Given the description of an element on the screen output the (x, y) to click on. 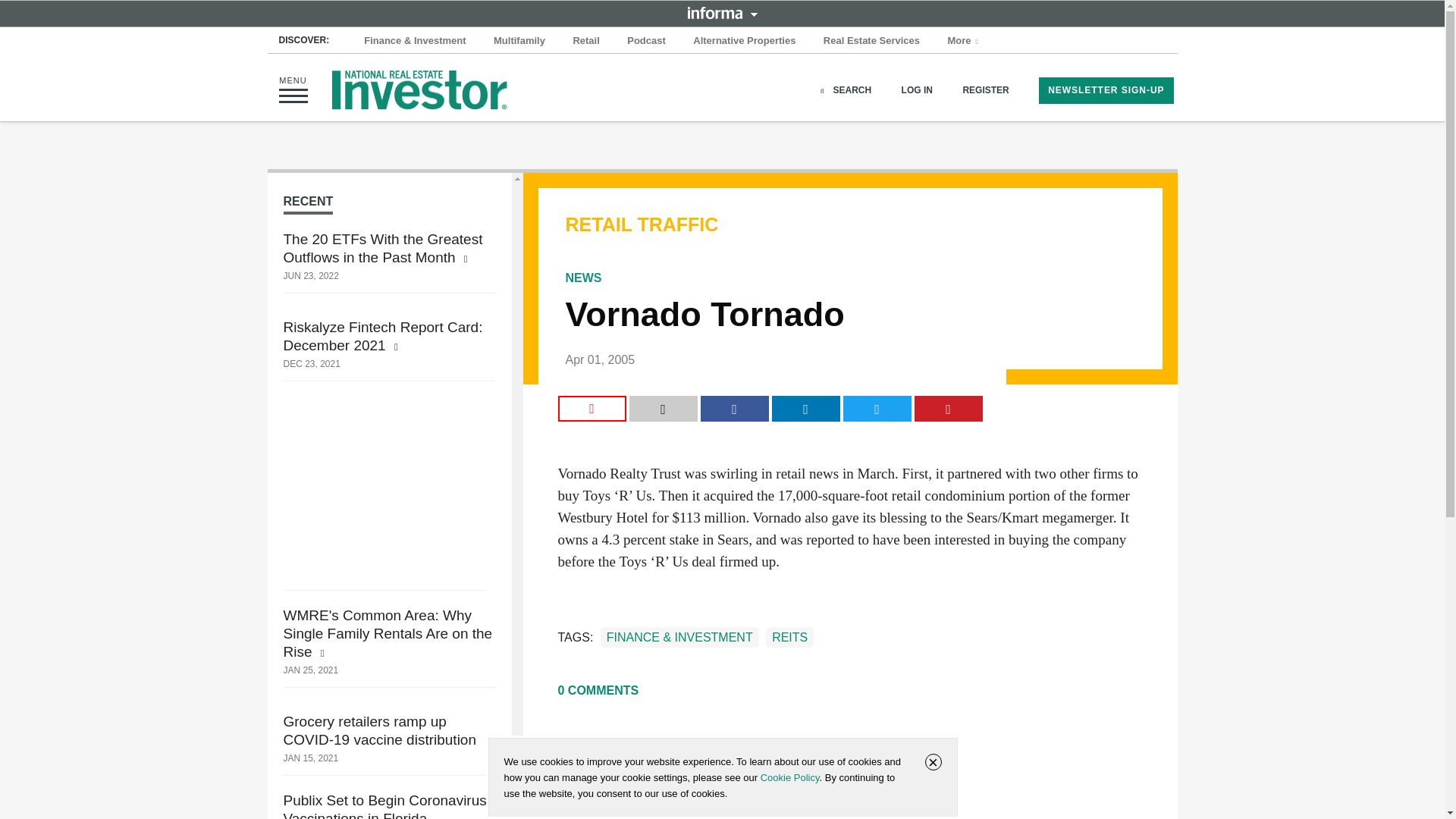
Multifamily (519, 41)
INFORMA (722, 12)
Podcast (646, 41)
Retail (585, 41)
Real Estate Services (871, 41)
More (964, 41)
Alternative Properties (744, 41)
Cookie Policy (789, 777)
